Given the description of an element on the screen output the (x, y) to click on. 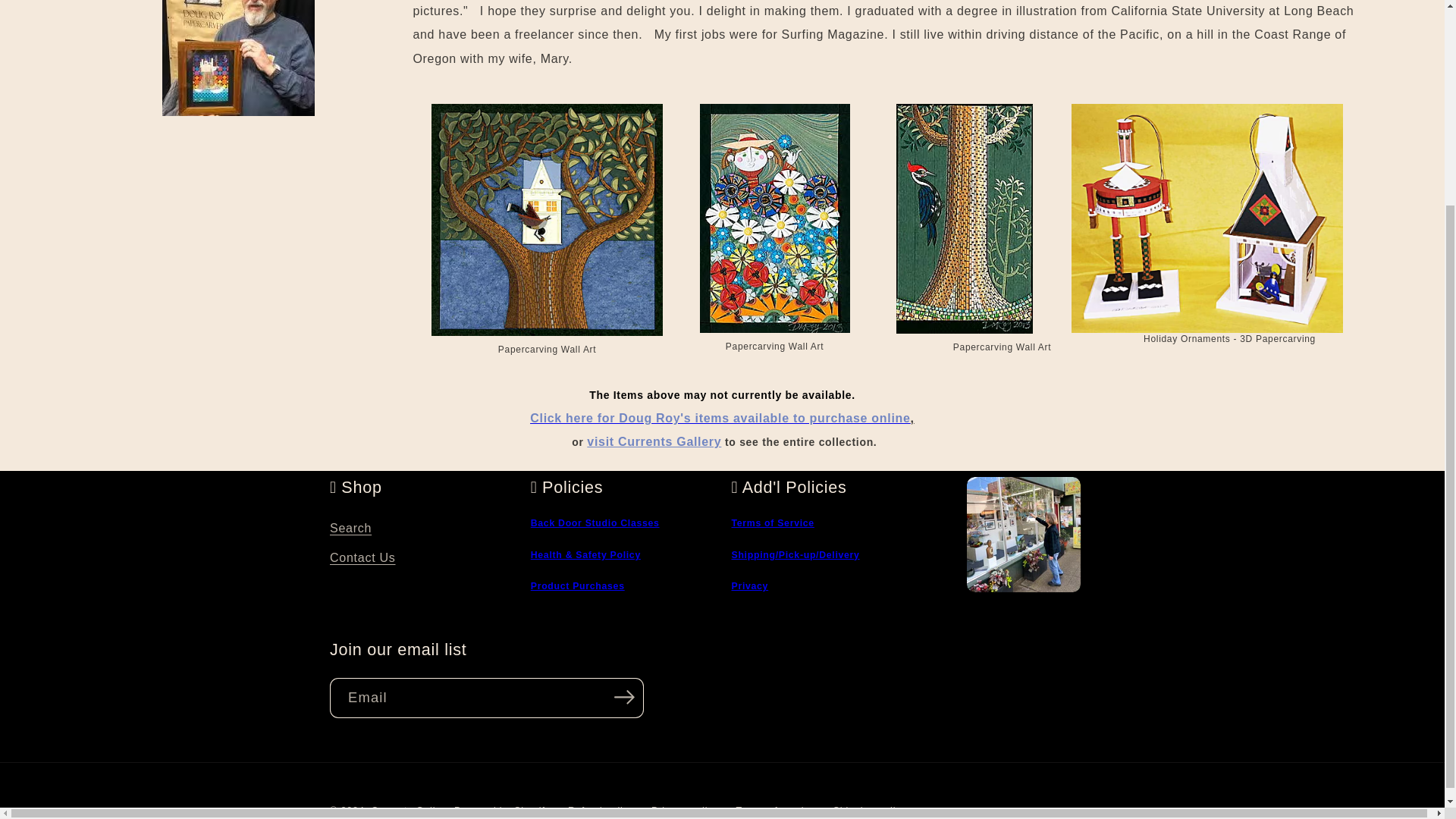
Covid -19 Prevention Policy. (585, 554)
Privacy Policy (749, 585)
Refund Policy (577, 585)
Shipping Policy (794, 554)
Terms of Service (771, 522)
